Given the description of an element on the screen output the (x, y) to click on. 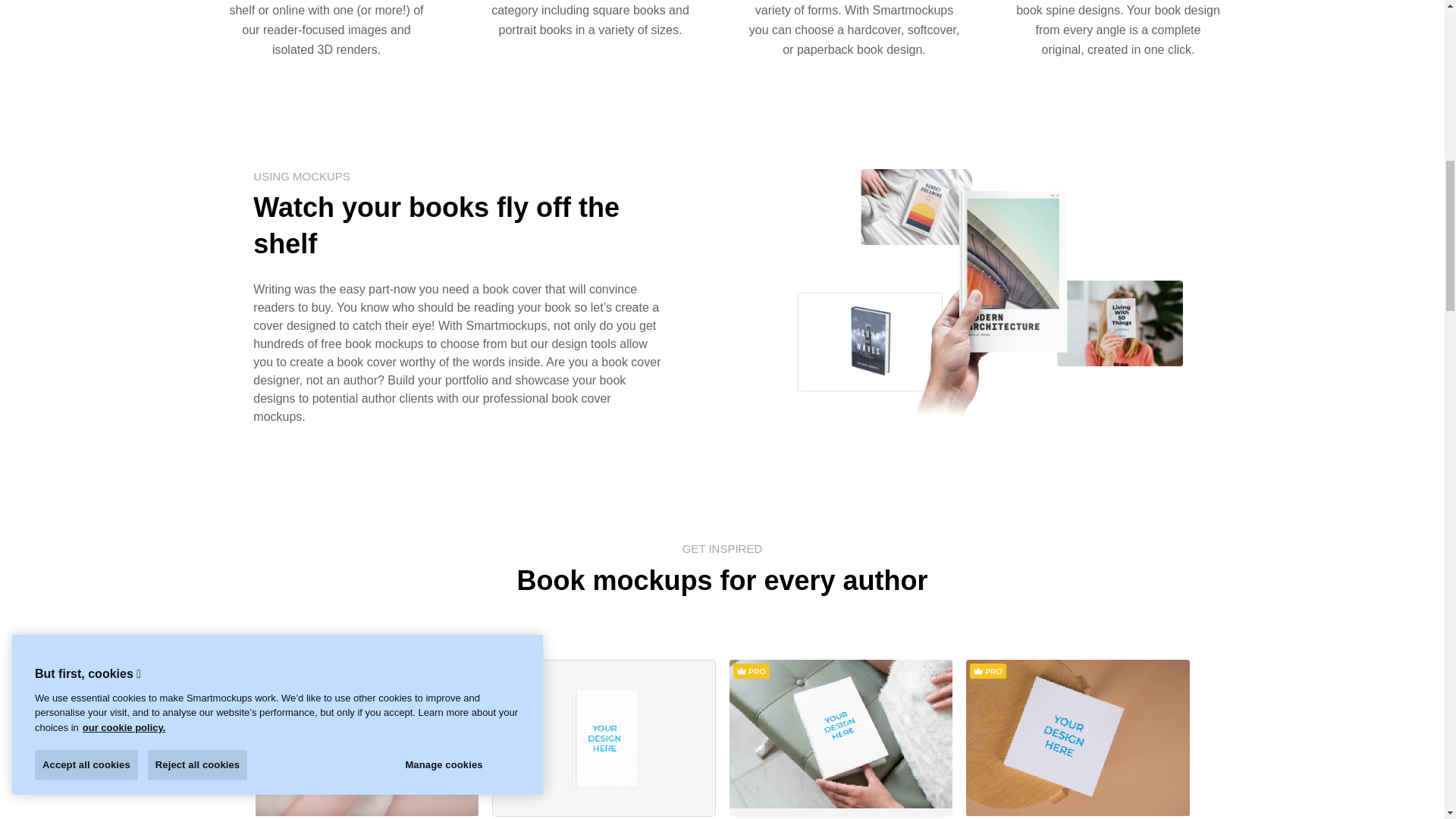
Pro mockup (750, 670)
Pro mockup (987, 670)
Portrait hard cover book 5.5x8.5 (603, 737)
Pro mockup (514, 671)
Pro mockup (277, 670)
Square softcover book 7.5x7.5 lying on the wooden stool (1077, 737)
